Given the description of an element on the screen output the (x, y) to click on. 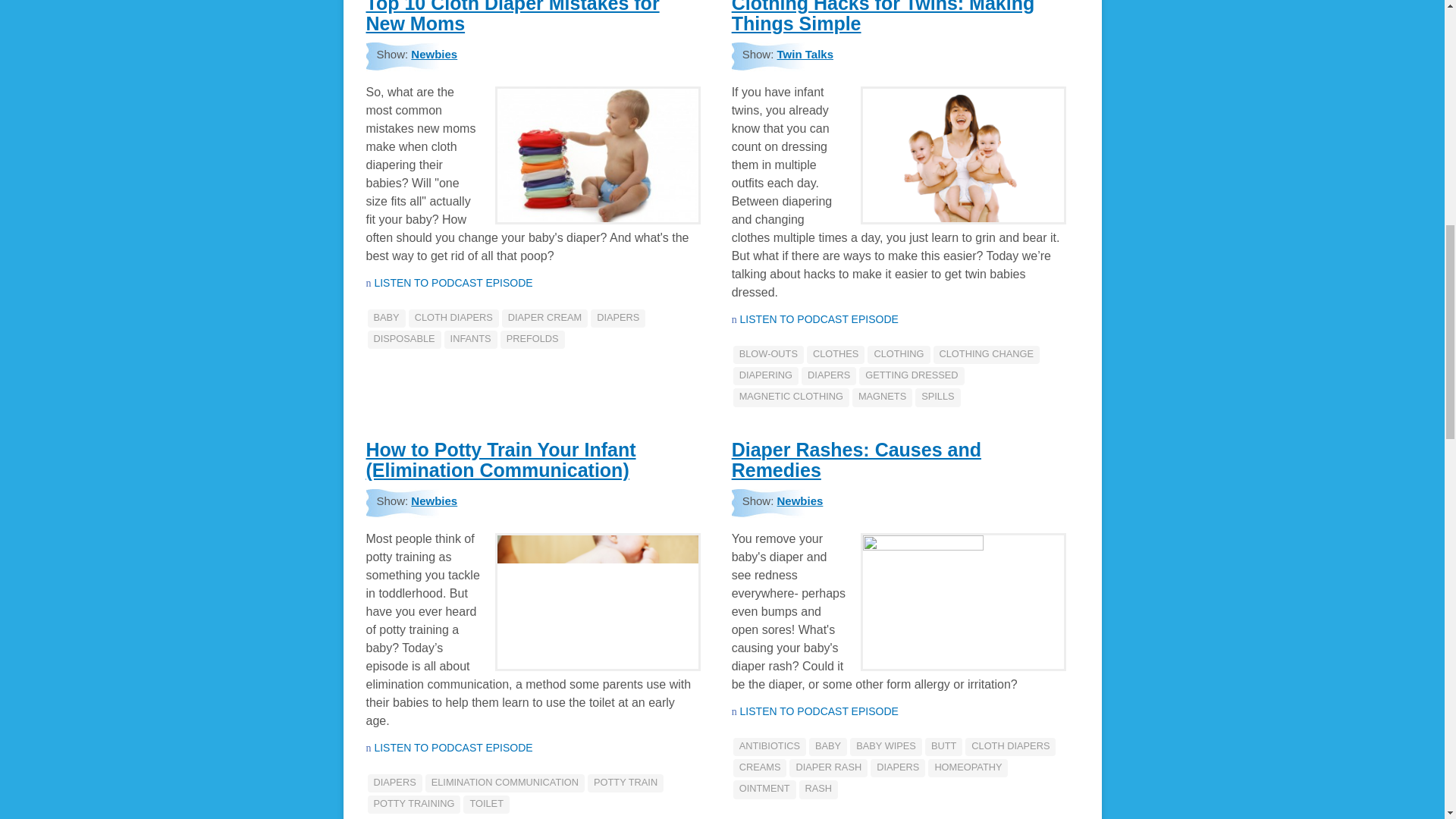
BABY (385, 318)
Top 10 Cloth Diaper Mistakes for New Moms (512, 17)
Top 10 Cloth Diaper Mistakes for New Moms (512, 17)
Top 10 Cloth Diaper Mistakes for New Moms (453, 282)
LISTEN TO PODCAST EPISODE (453, 282)
Newbies (433, 53)
